Given the description of an element on the screen output the (x, y) to click on. 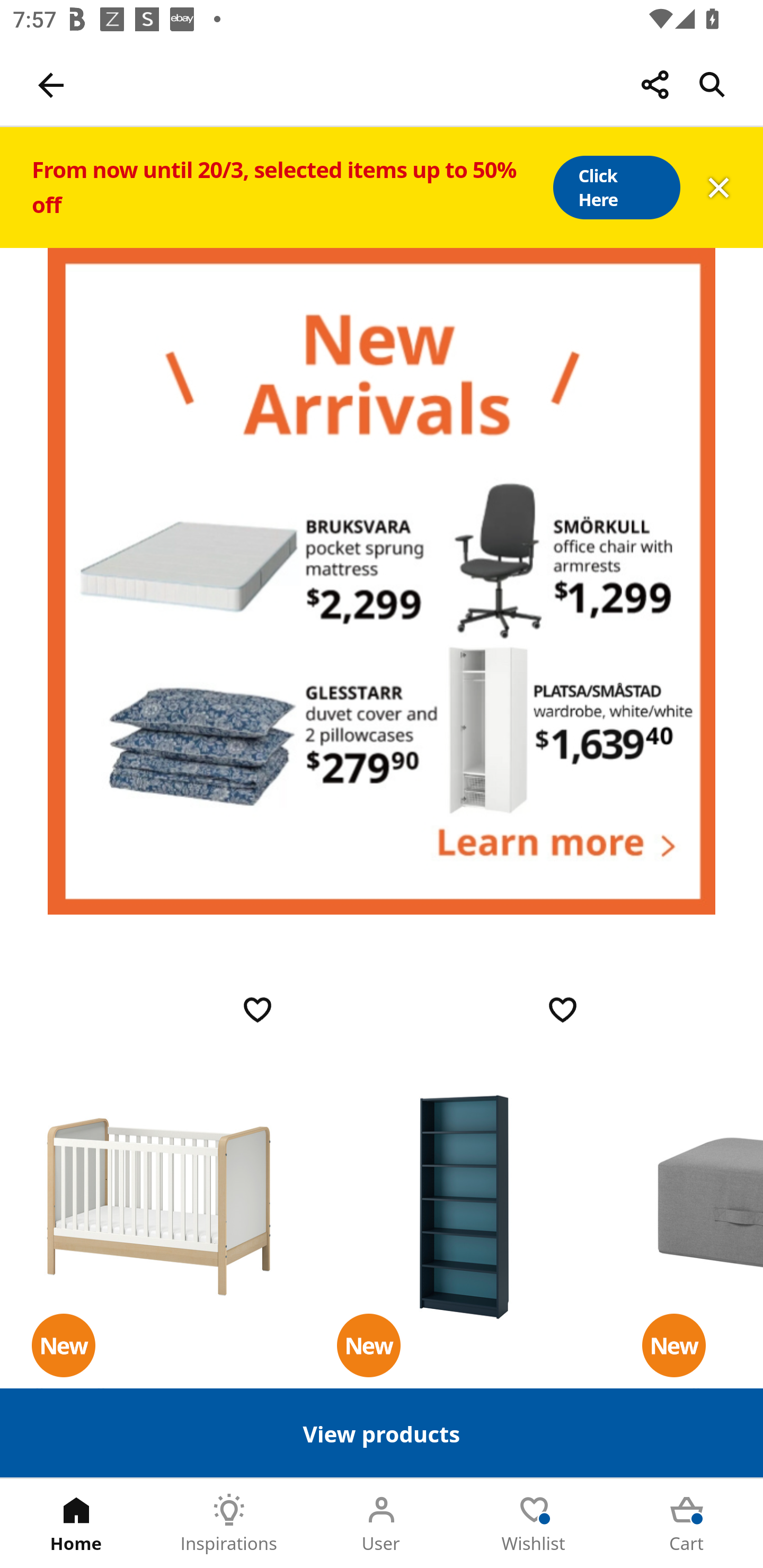
Click Here (615, 187)
newitems#shop-now (381, 580)
ÄLSKVÄRD (159, 1206)
BILLY (464, 1206)
View products (381, 1432)
Home
Tab 1 of 5 (76, 1522)
Inspirations
Tab 2 of 5 (228, 1522)
User
Tab 3 of 5 (381, 1522)
Wishlist
Tab 4 of 5 (533, 1522)
Cart
Tab 5 of 5 (686, 1522)
